Given the description of an element on the screen output the (x, y) to click on. 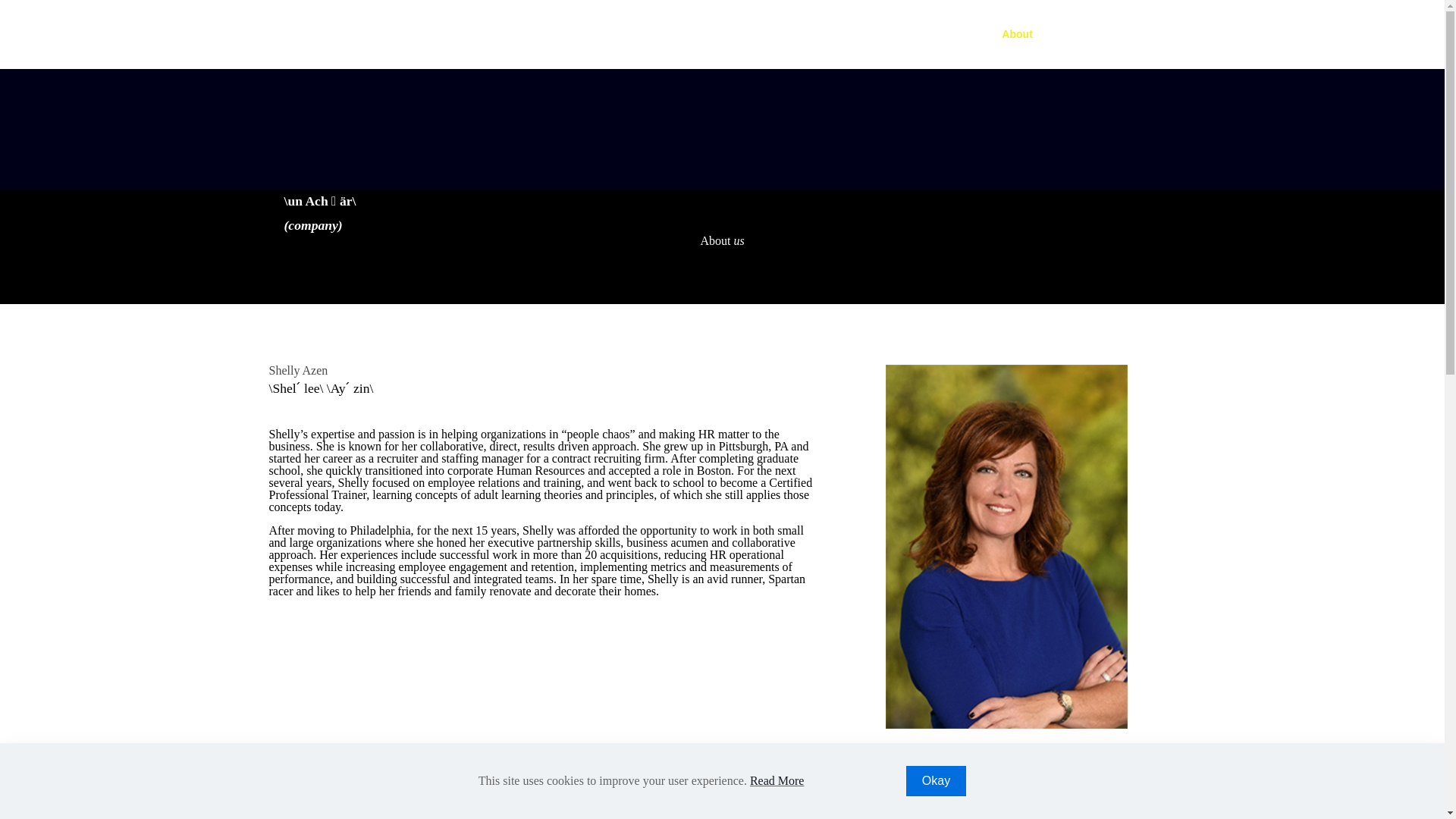
Okay (935, 780)
Read More (777, 780)
Home (882, 33)
About (1016, 33)
Services (949, 33)
unHR - an unconventional approach to Human Resources (342, 33)
Contact (1139, 33)
News (1077, 33)
